Given the description of an element on the screen output the (x, y) to click on. 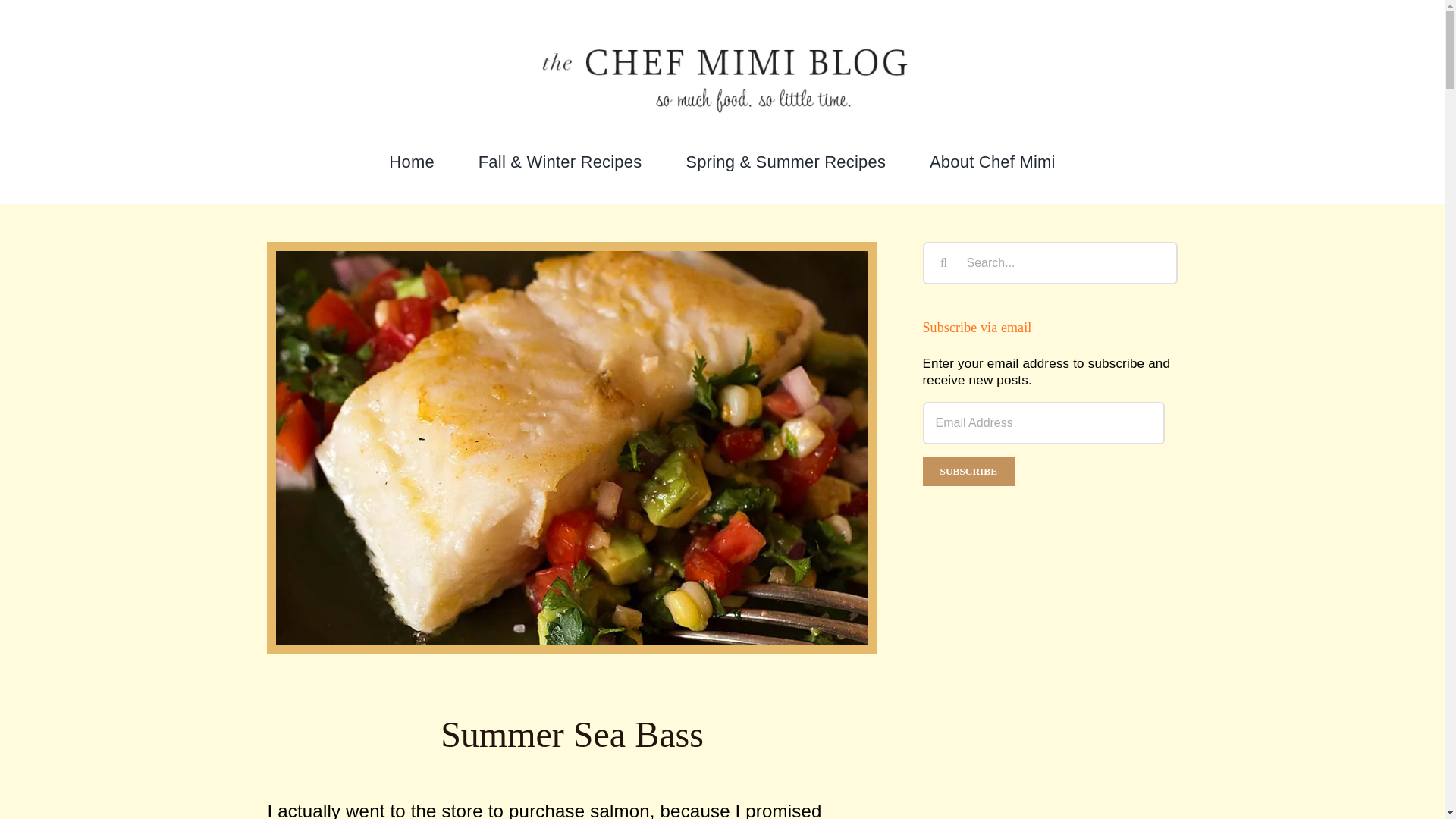
About Chef Mimi (992, 162)
Home (410, 162)
